Given the description of an element on the screen output the (x, y) to click on. 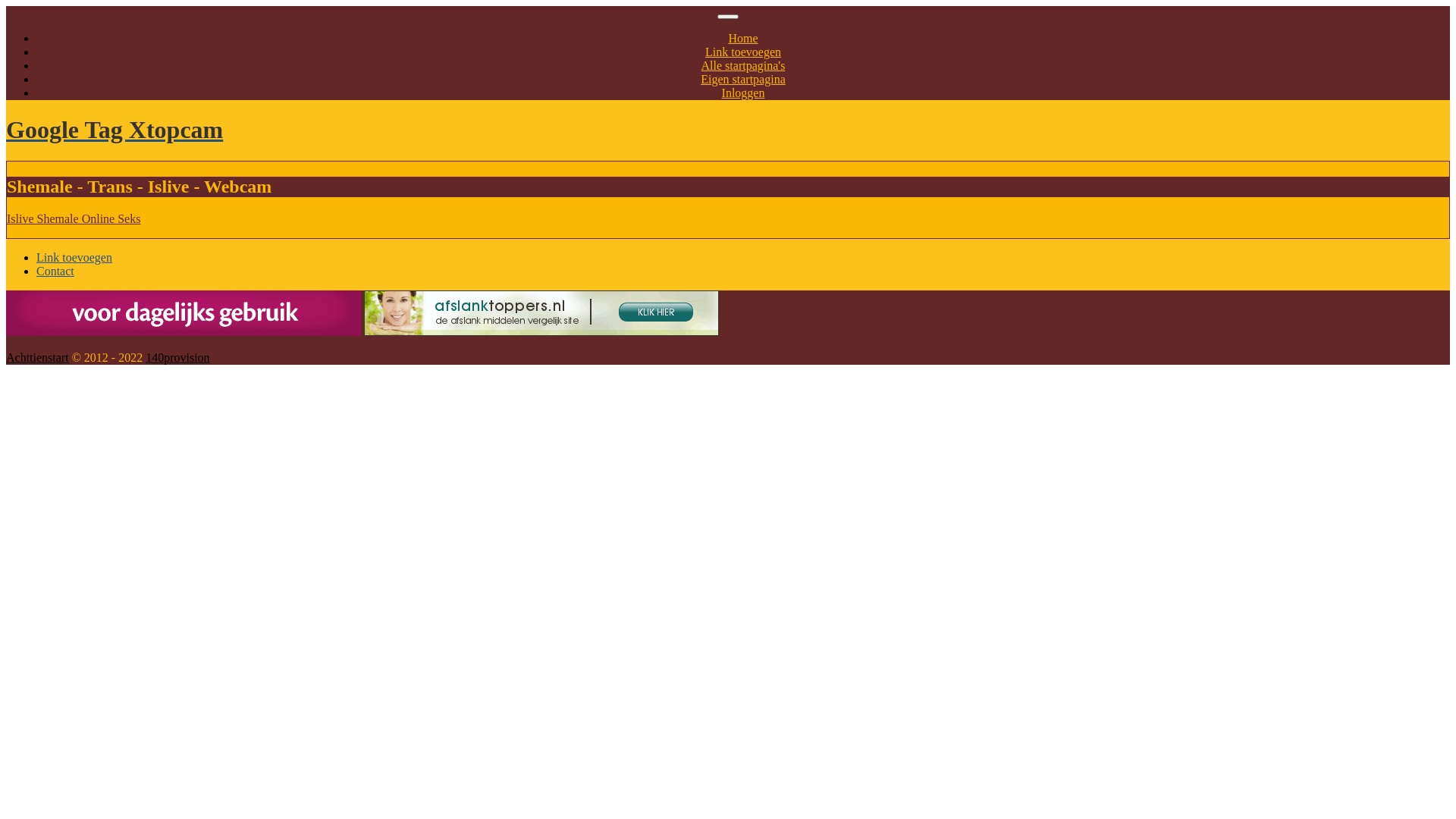
Achttienstart Element type: text (37, 357)
Home Element type: text (742, 37)
Islive Shemale Online Seks Element type: text (73, 218)
Inloggen Element type: text (743, 92)
Eigen startpagina Element type: text (742, 78)
Alle startpagina's Element type: text (743, 65)
140provision Element type: text (177, 357)
Google Tag Xtopcam Element type: text (727, 130)
Link toevoegen Element type: text (74, 257)
De beste afslankmiddelen op een site Element type: hover (541, 312)
Contact Element type: text (55, 270)
Stevige grote borsten in 20 dagen Element type: hover (183, 312)
Link toevoegen Element type: text (743, 51)
